Given the description of an element on the screen output the (x, y) to click on. 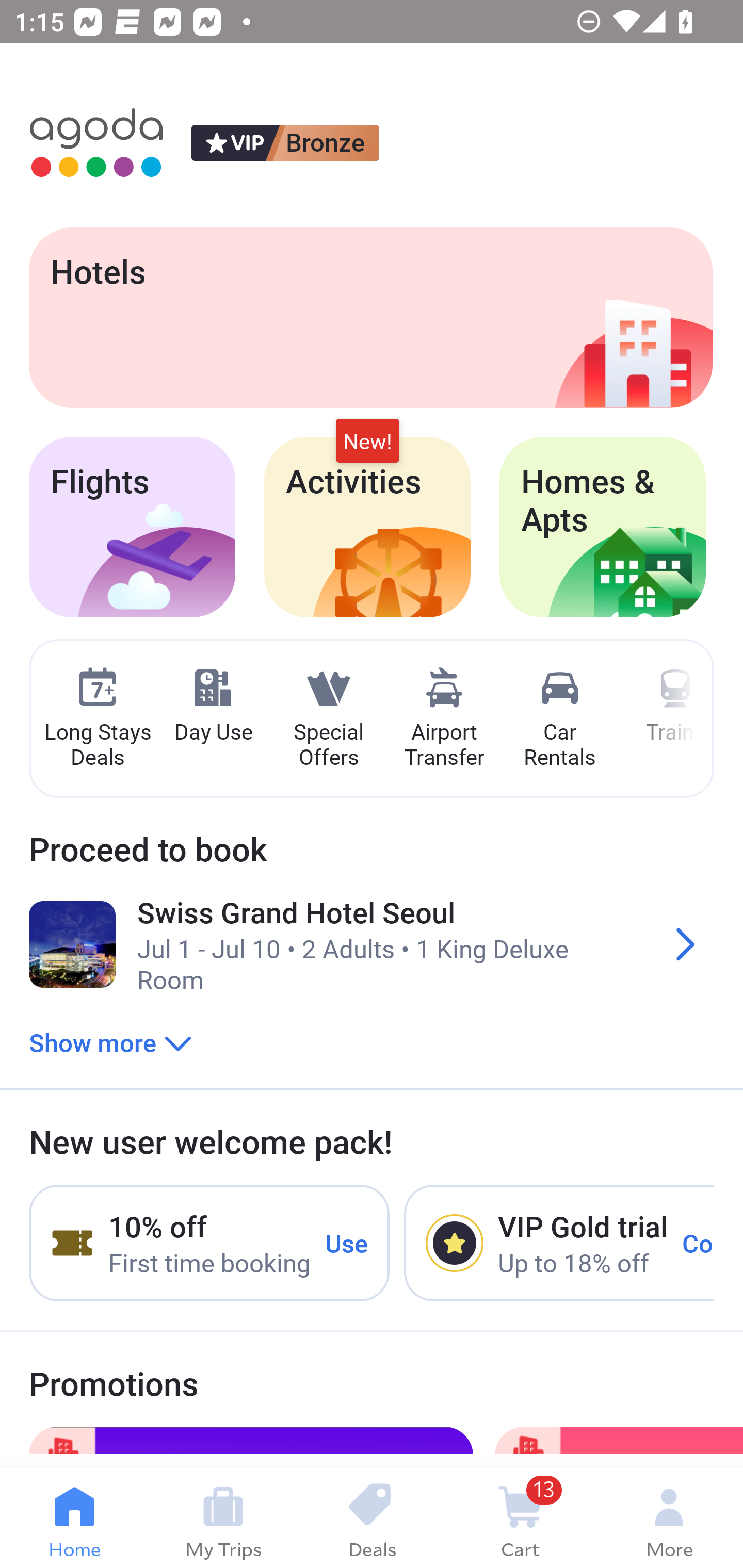
Hotels (370, 317)
New! (367, 441)
Flights (131, 527)
Activities (367, 527)
Homes & Apts (602, 527)
Day Use (213, 706)
Long Stays Deals (97, 718)
Special Offers (328, 718)
Airport Transfer (444, 718)
Car Rentals (559, 718)
Show more (110, 1041)
Use (346, 1242)
Home (74, 1518)
My Trips (222, 1518)
Deals (371, 1518)
13 Cart (519, 1518)
More (668, 1518)
